Given the description of an element on the screen output the (x, y) to click on. 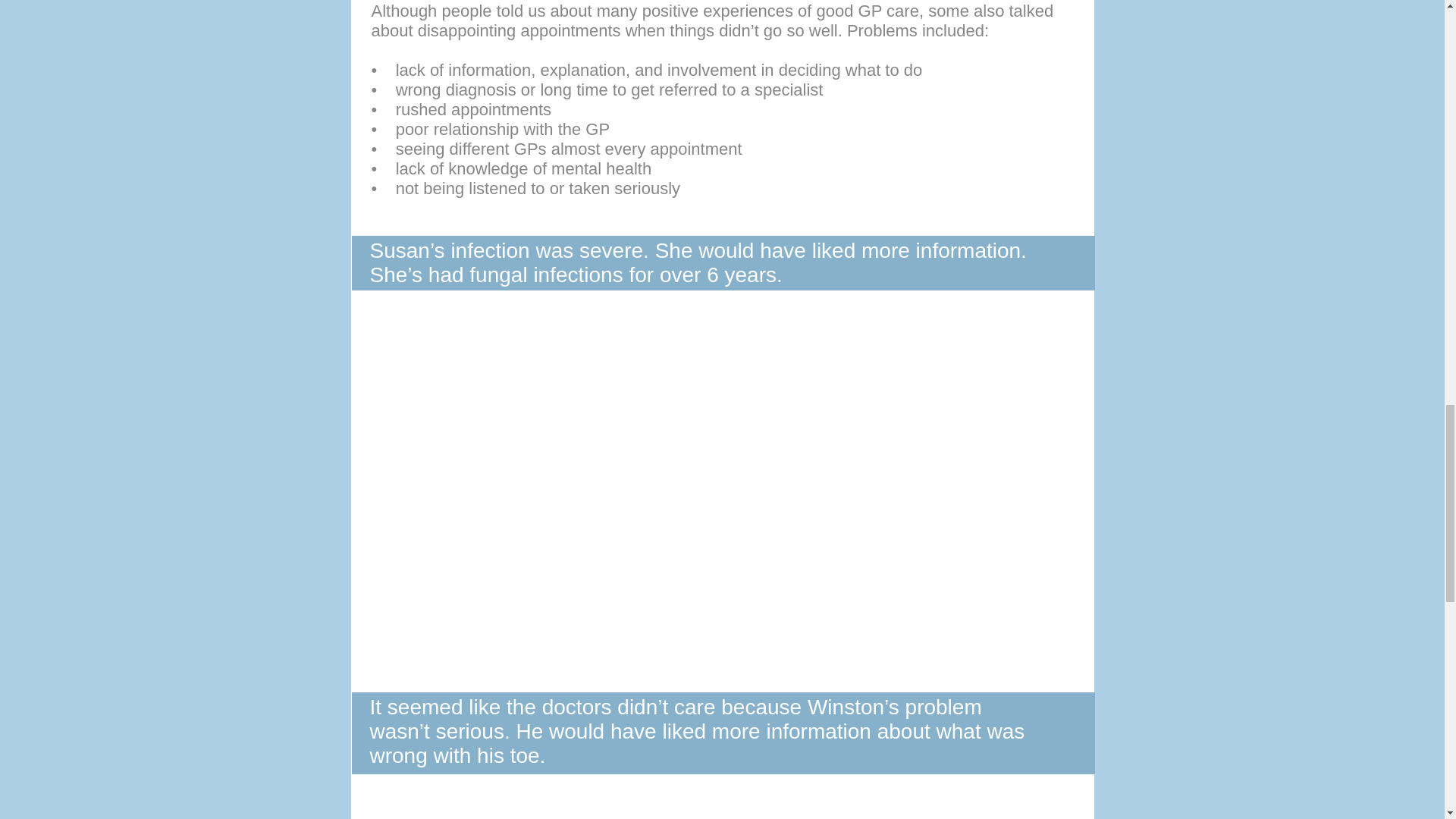
External YouTube (722, 802)
